Given the description of an element on the screen output the (x, y) to click on. 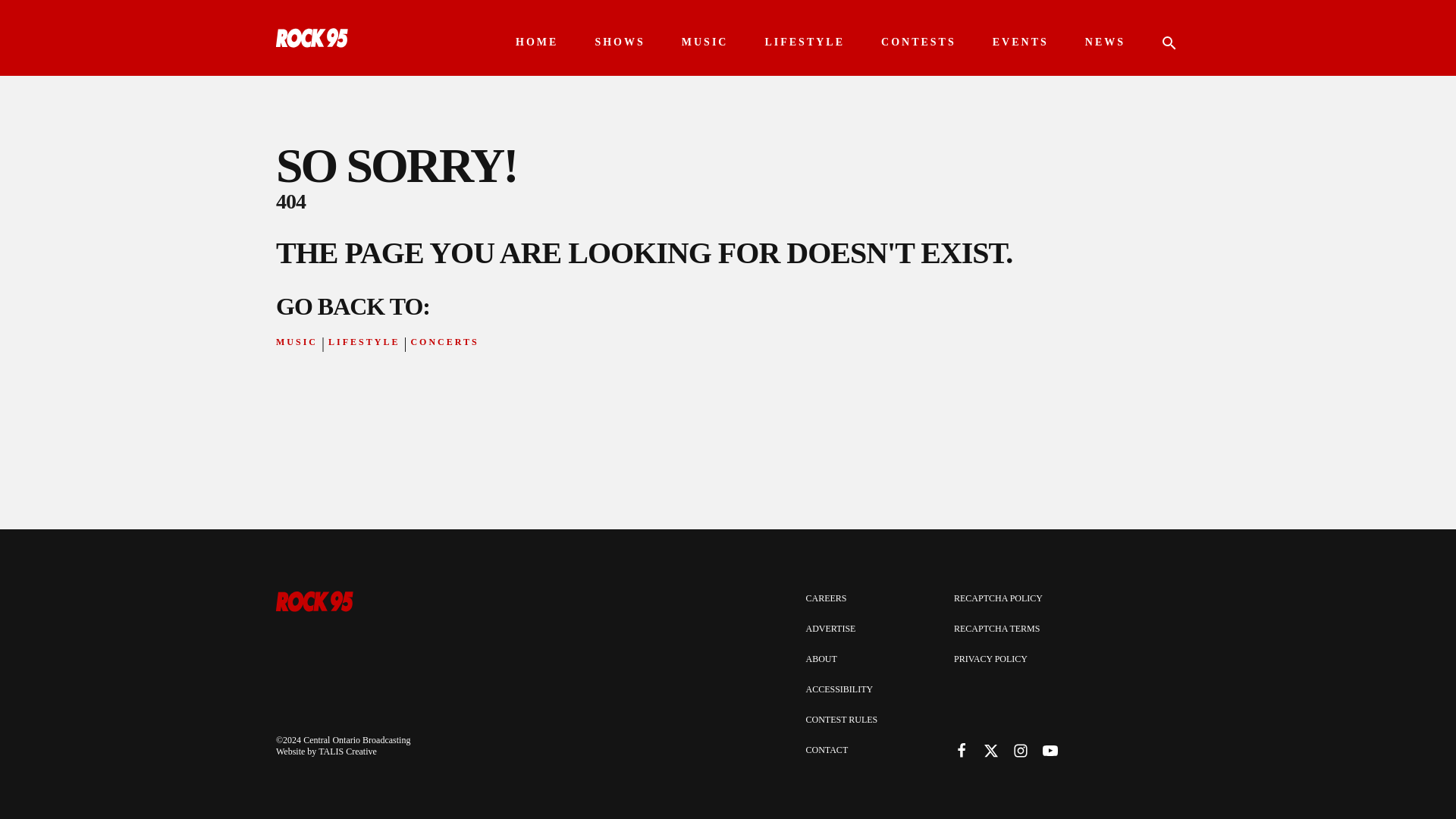
Search (29, 11)
LIFESTYLE (804, 42)
CONTESTS (918, 42)
MUSIC (705, 42)
EVENTS (1020, 42)
NEWS (1104, 42)
MUSIC (296, 341)
SHOWS (619, 42)
LIFESTYLE (363, 341)
HOME (536, 42)
CONCERTS (444, 341)
